Given the description of an element on the screen output the (x, y) to click on. 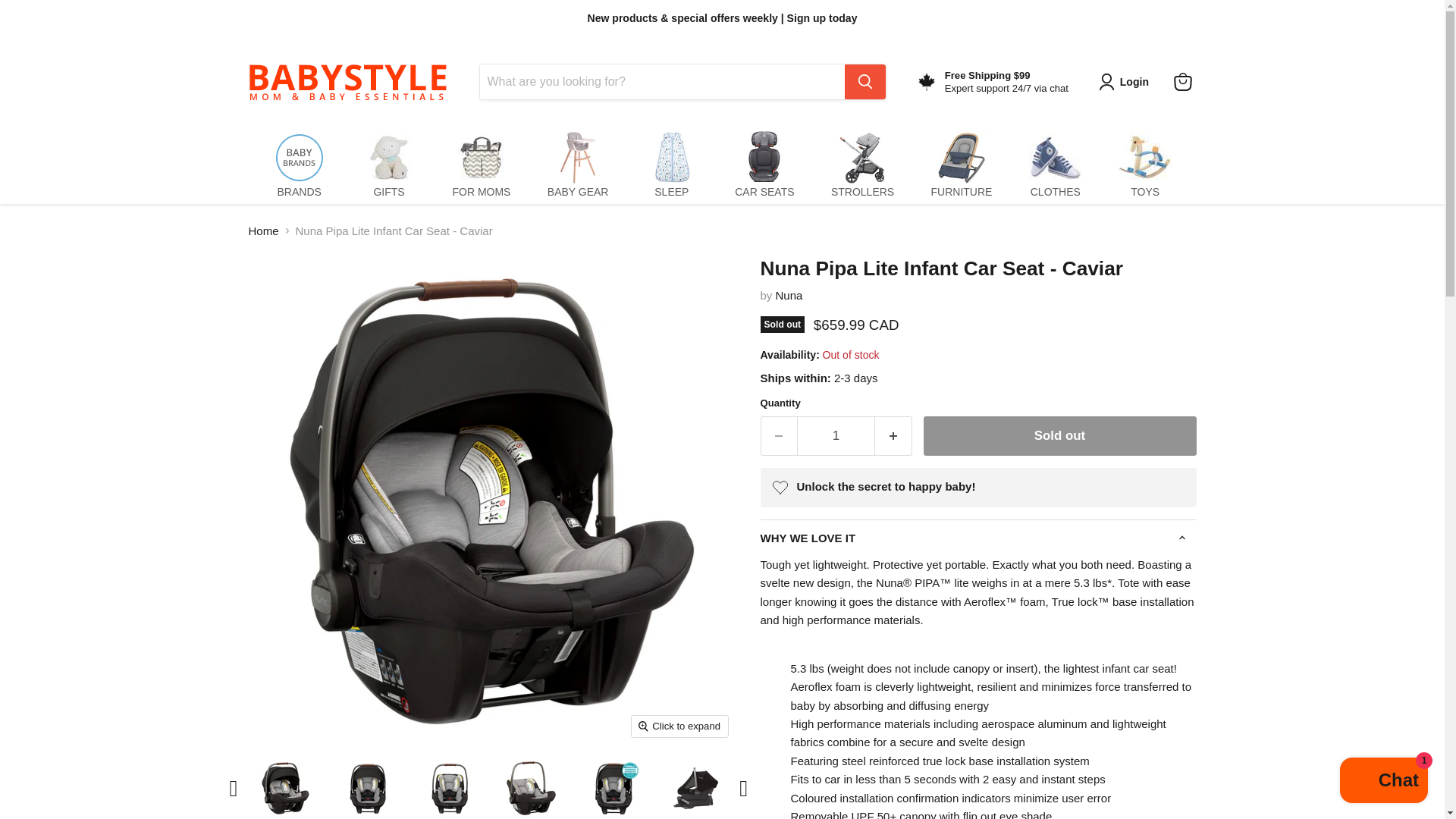
Login (1126, 81)
Shopify online store chat (1383, 781)
1 (835, 435)
View cart (1182, 81)
Nuna (789, 295)
